Given the description of an element on the screen output the (x, y) to click on. 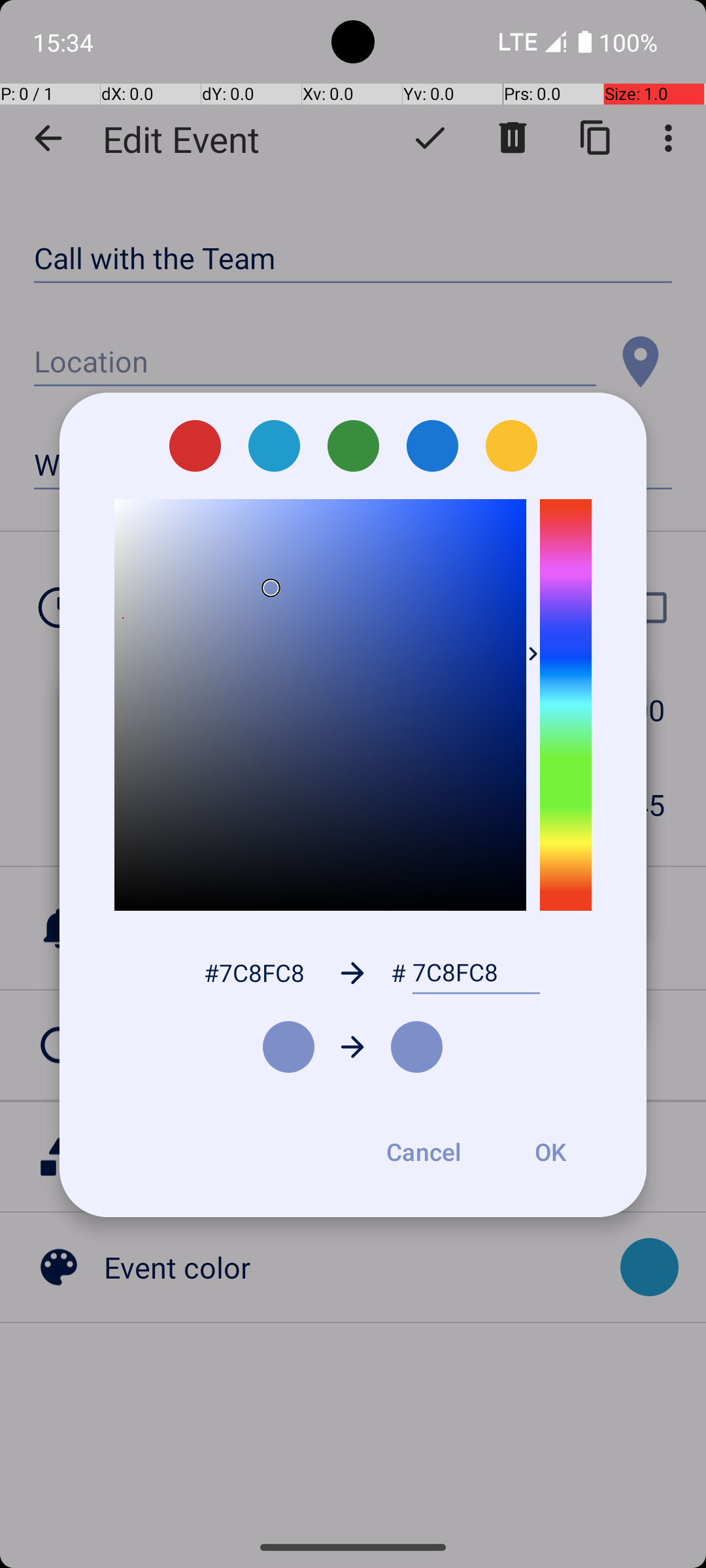
#7C8FC8 Element type: android.widget.TextView (254, 972)
7C8FC8 Element type: android.widget.EditText (475, 972)
